Given the description of an element on the screen output the (x, y) to click on. 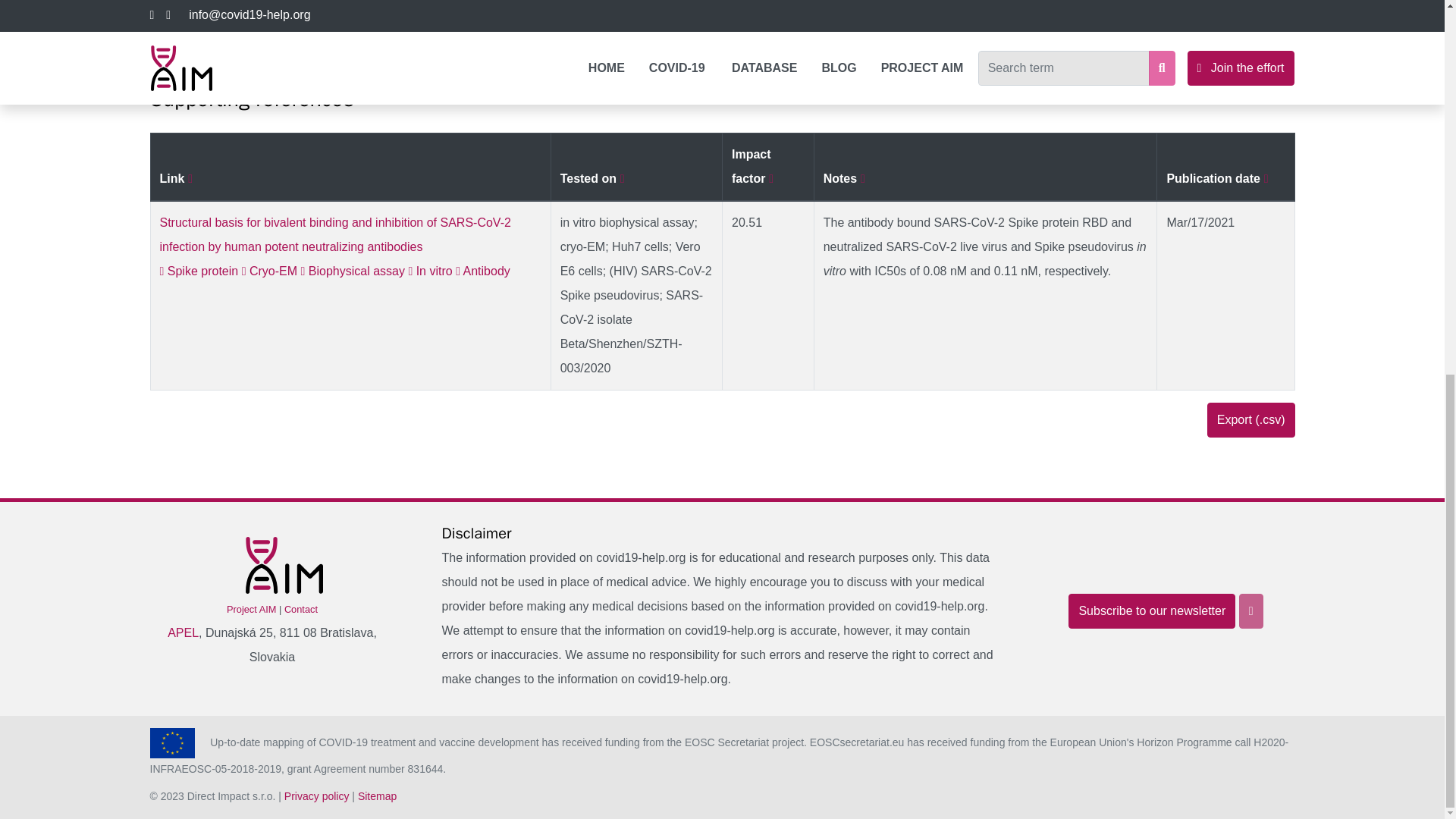
Biophysical assay (353, 270)
In vitro (431, 270)
Privacy policy (316, 796)
Subscribe to our newsletter (1151, 610)
APEL (182, 632)
Project AIM (251, 609)
Sitemap (377, 796)
Back to the top (1251, 610)
Antibody (483, 270)
Cryo-EM (271, 270)
Spike protein (199, 270)
Contact (300, 609)
Yan et al., 2021 (505, 27)
